Given the description of an element on the screen output the (x, y) to click on. 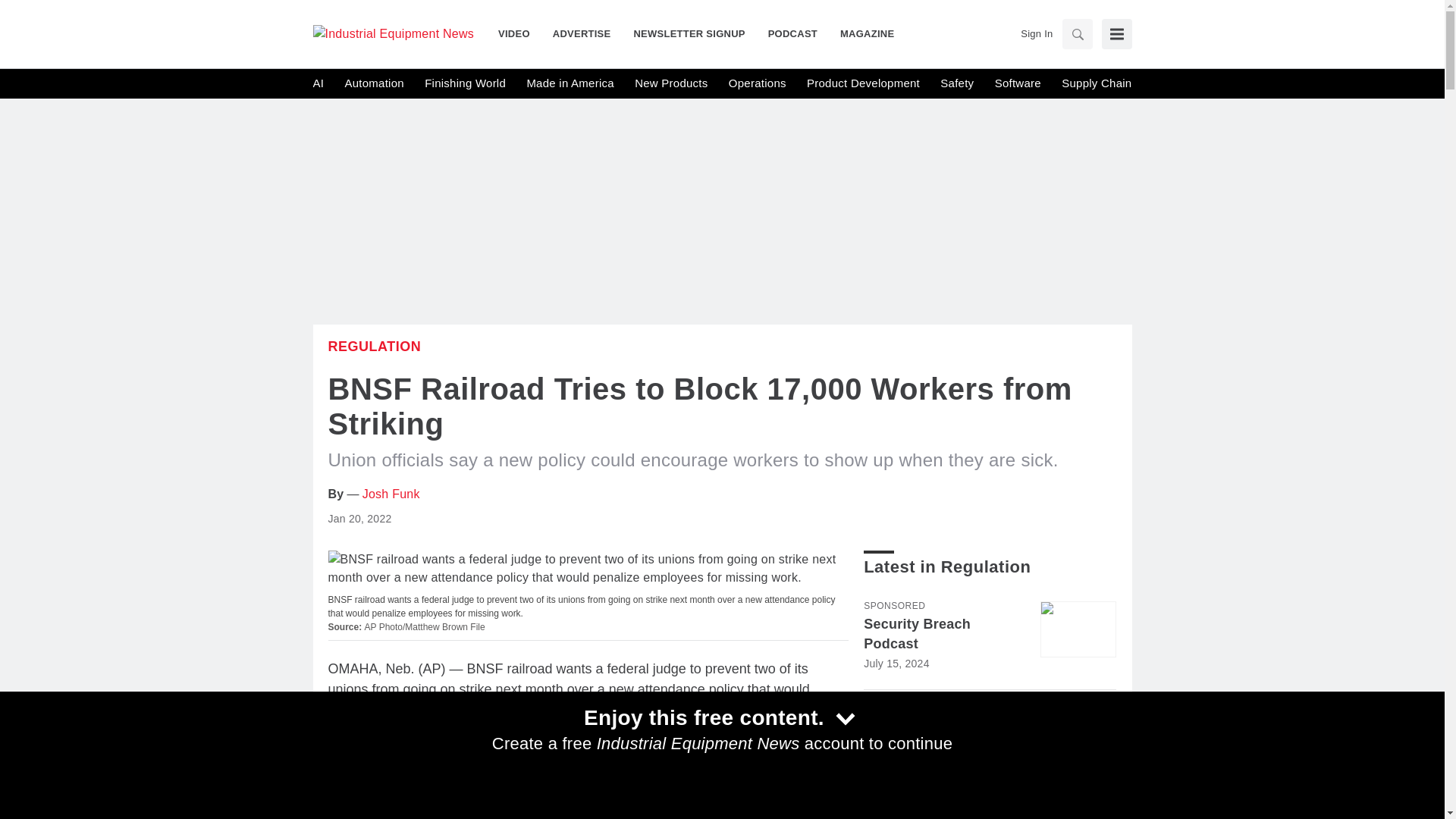
NEWSLETTER SIGNUP (688, 33)
Regulation (373, 345)
New Products (670, 83)
PODCAST (792, 33)
Product Development (863, 83)
MAGAZINE (860, 33)
Supply Chain (1096, 83)
Safety (957, 83)
Automation (373, 83)
Software (1017, 83)
Sign In (1036, 33)
Sponsored (893, 605)
Made in America (568, 83)
ADVERTISE (582, 33)
Operations (757, 83)
